Given the description of an element on the screen output the (x, y) to click on. 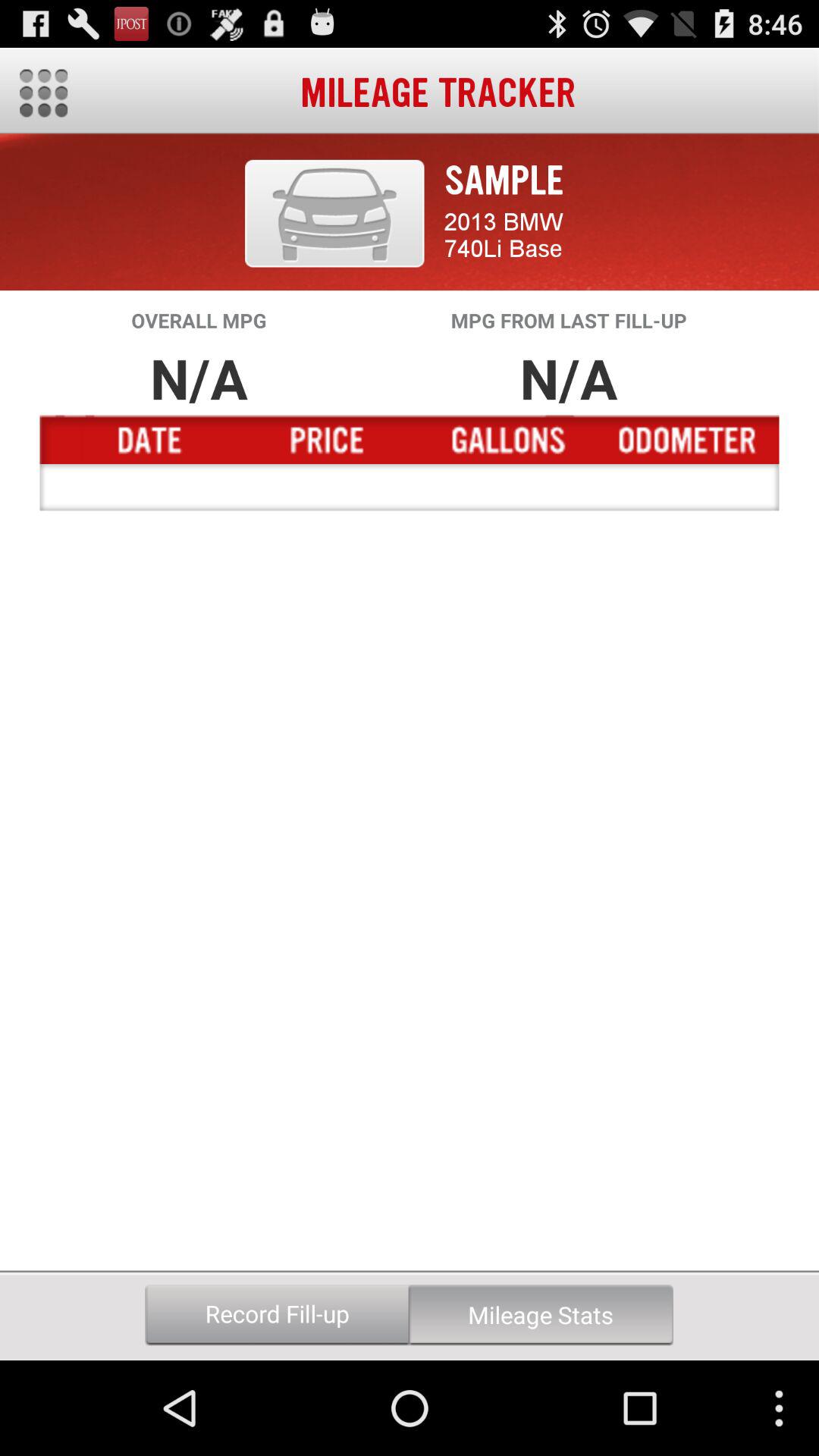
turn on the icon next to sample (334, 213)
